Given the description of an element on the screen output the (x, y) to click on. 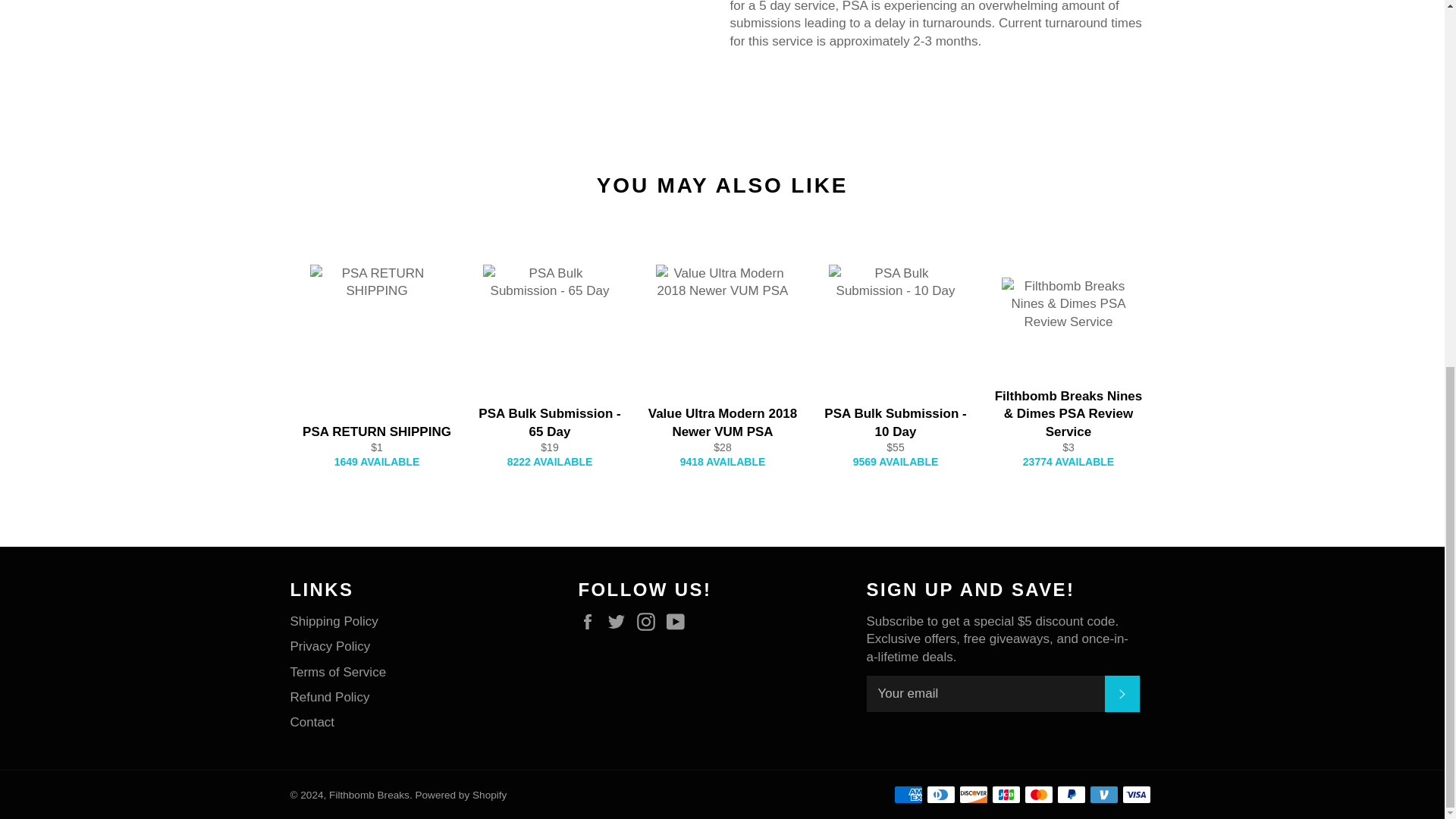
Filthbomb Breaks on Instagram (649, 621)
Filthbomb Breaks on Facebook (591, 621)
Filthbomb Breaks on YouTube (679, 621)
Filthbomb Breaks on Twitter (620, 621)
